Given the description of an element on the screen output the (x, y) to click on. 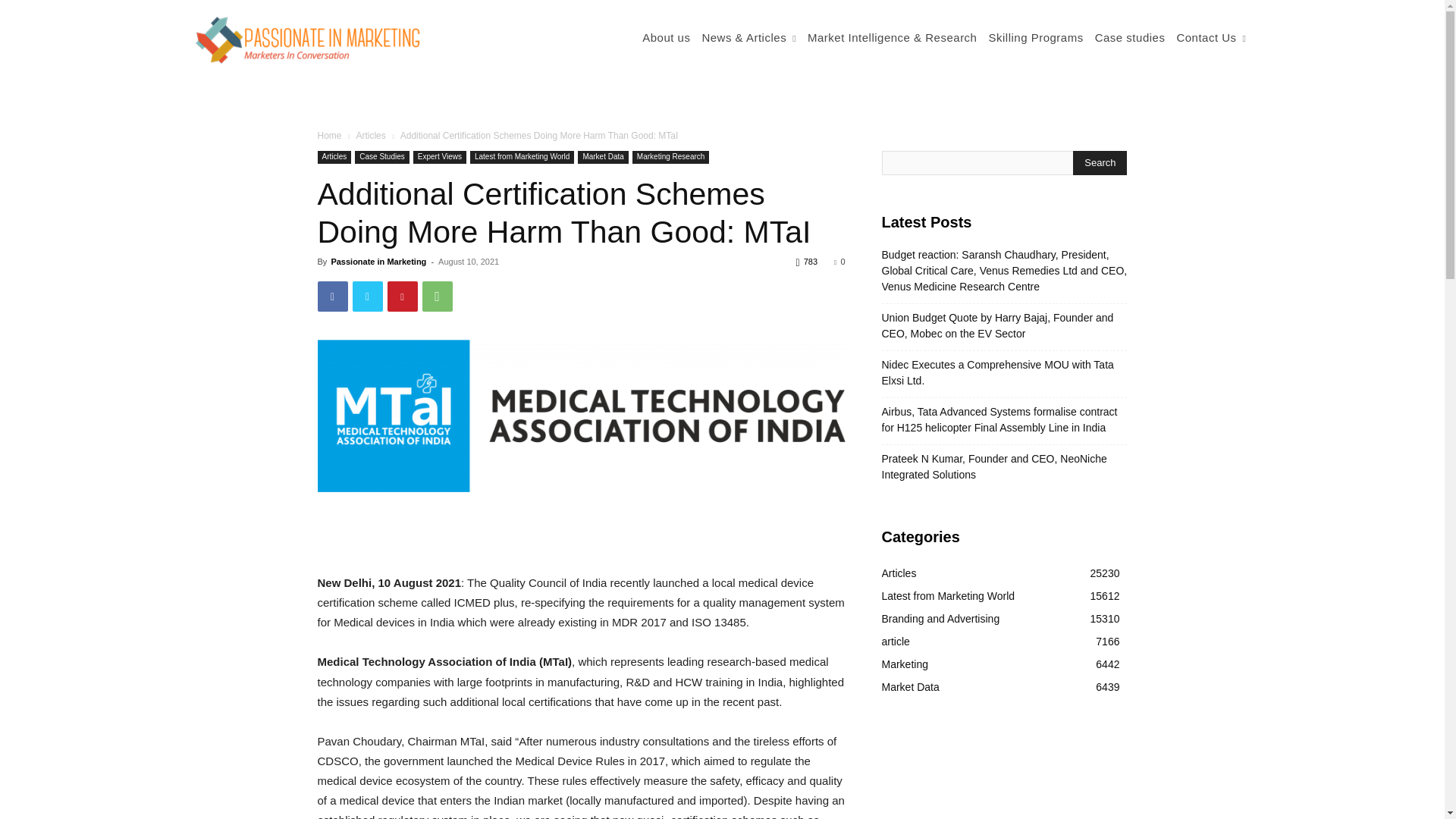
WhatsApp (436, 296)
Search (1099, 162)
Twitter (366, 296)
Pinterest (401, 296)
Facebook (332, 296)
View all posts in Articles (370, 135)
